Given the description of an element on the screen output the (x, y) to click on. 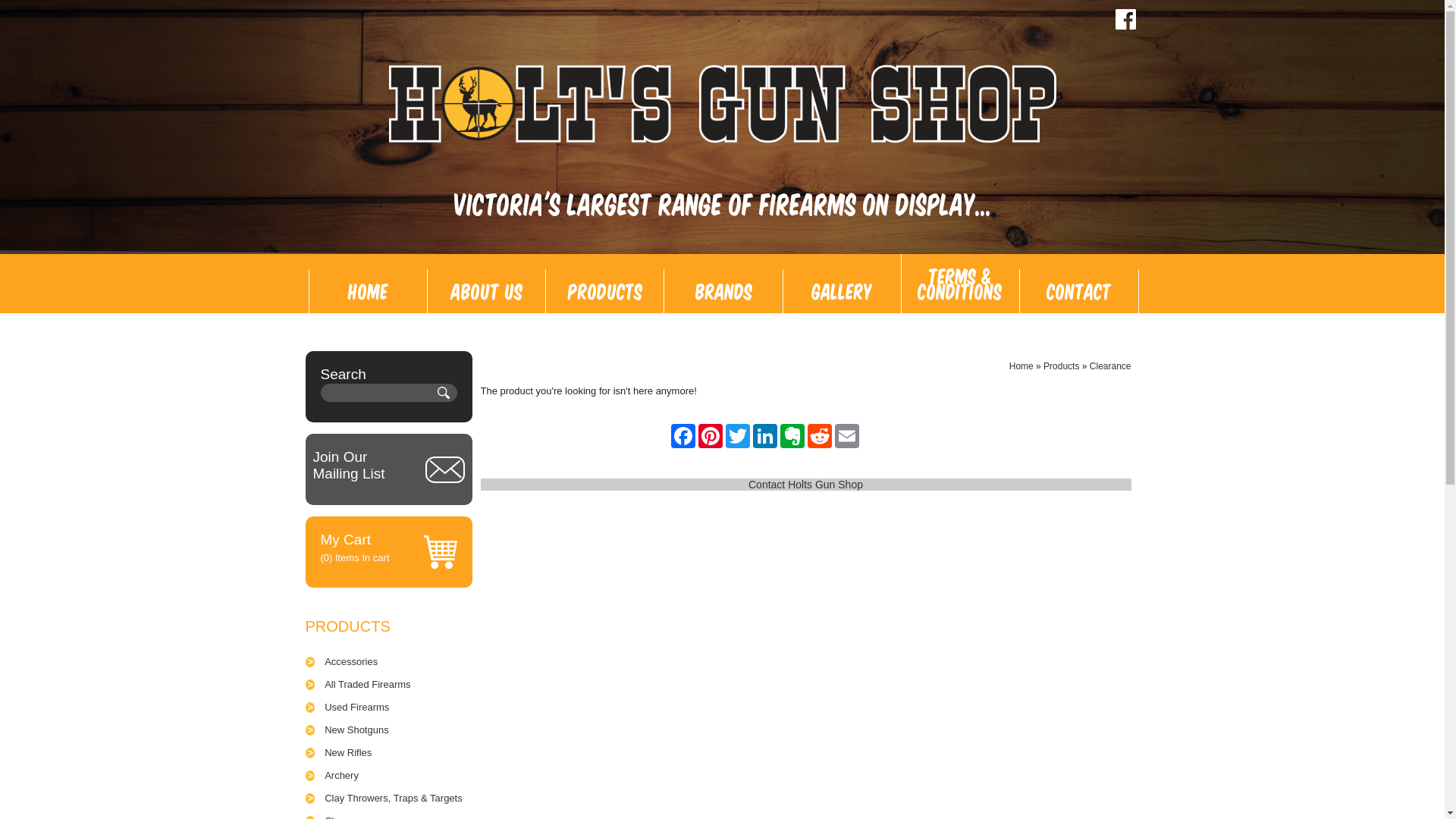
(0) Items In cart Element type: text (354, 557)
Email Element type: text (845, 435)
Terms & Conditions Element type: text (960, 283)
New Shotguns Element type: text (356, 729)
Gallery Element type: text (842, 291)
LinkedIn Element type: text (764, 435)
Used Firearms Element type: text (356, 707)
New Rifles Element type: text (347, 752)
Pinterest Element type: text (709, 435)
Reddit Element type: text (818, 435)
Accessories Element type: text (350, 661)
Twitter Element type: text (736, 435)
Contact Holts Gun Shop Element type: text (805, 484)
Brands Element type: text (723, 291)
Home Element type: text (1021, 365)
Holts Gun Shop Element type: hover (721, 103)
Archery Element type: text (341, 775)
Evernote Element type: text (791, 435)
Clay Throwers, Traps & Targets Element type: text (393, 798)
Clearance Element type: text (1110, 365)
Products Element type: text (1061, 365)
Facebook Element type: text (682, 435)
Home Element type: text (368, 291)
PRODUCTS Element type: text (346, 626)
All Traded Firearms Element type: text (366, 684)
Join Our Mailing List Element type: text (361, 465)
Contact Element type: text (1078, 291)
Products Element type: text (605, 291)
About Us Element type: text (486, 291)
